Given the description of an element on the screen output the (x, y) to click on. 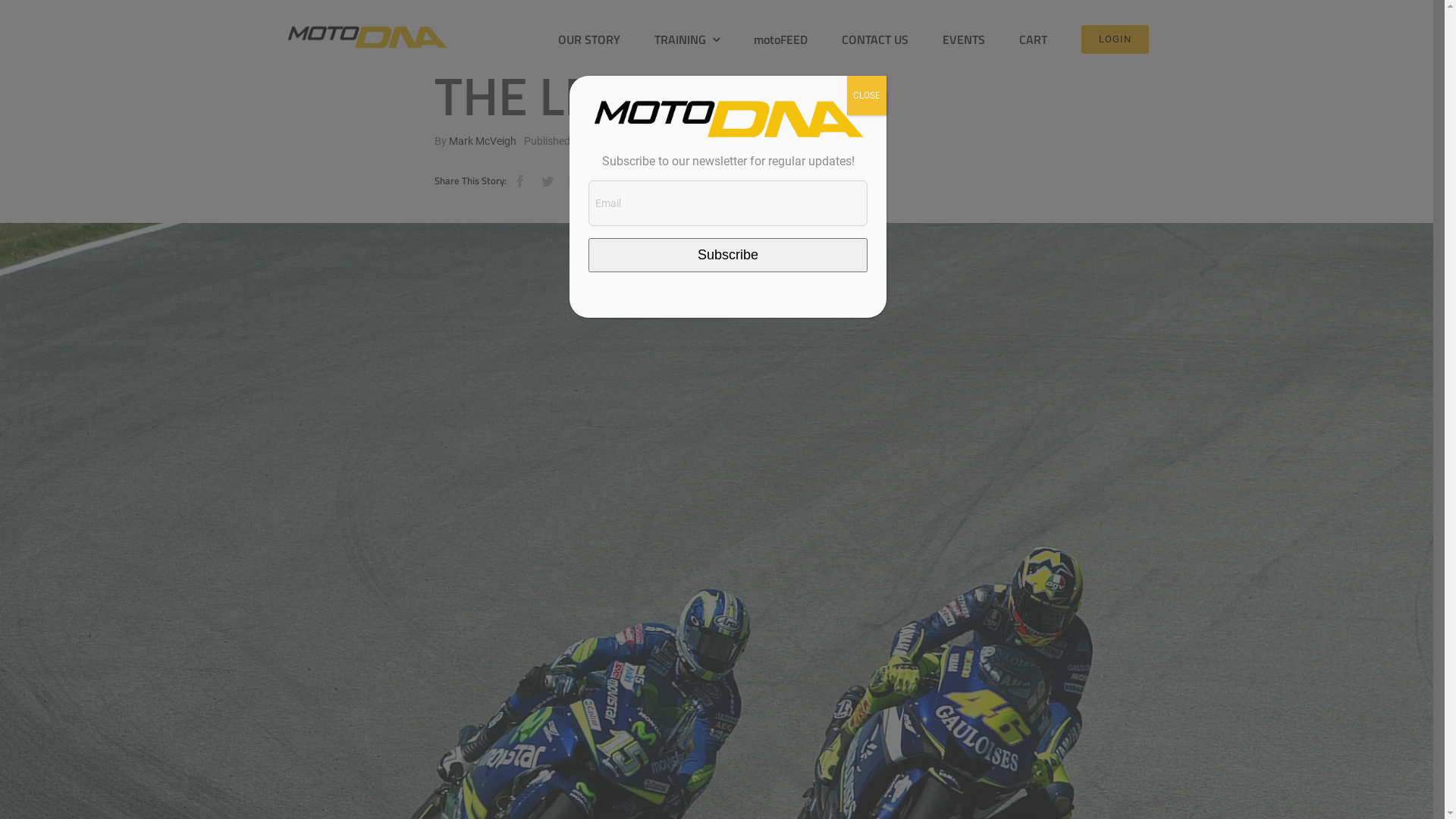
CONTACT US Element type: text (874, 39)
OUR STORY Element type: text (589, 39)
Mark McVeigh Element type: text (482, 140)
CART Element type: text (1033, 39)
CLOSE Element type: text (866, 95)
Featured Element type: text (765, 140)
LOGIN Element type: text (1114, 39)
Track Element type: text (804, 140)
EVENTS Element type: text (963, 39)
motoFEED Element type: text (780, 39)
Subscribe Element type: text (727, 255)
TRAINING Element type: text (686, 39)
